Given the description of an element on the screen output the (x, y) to click on. 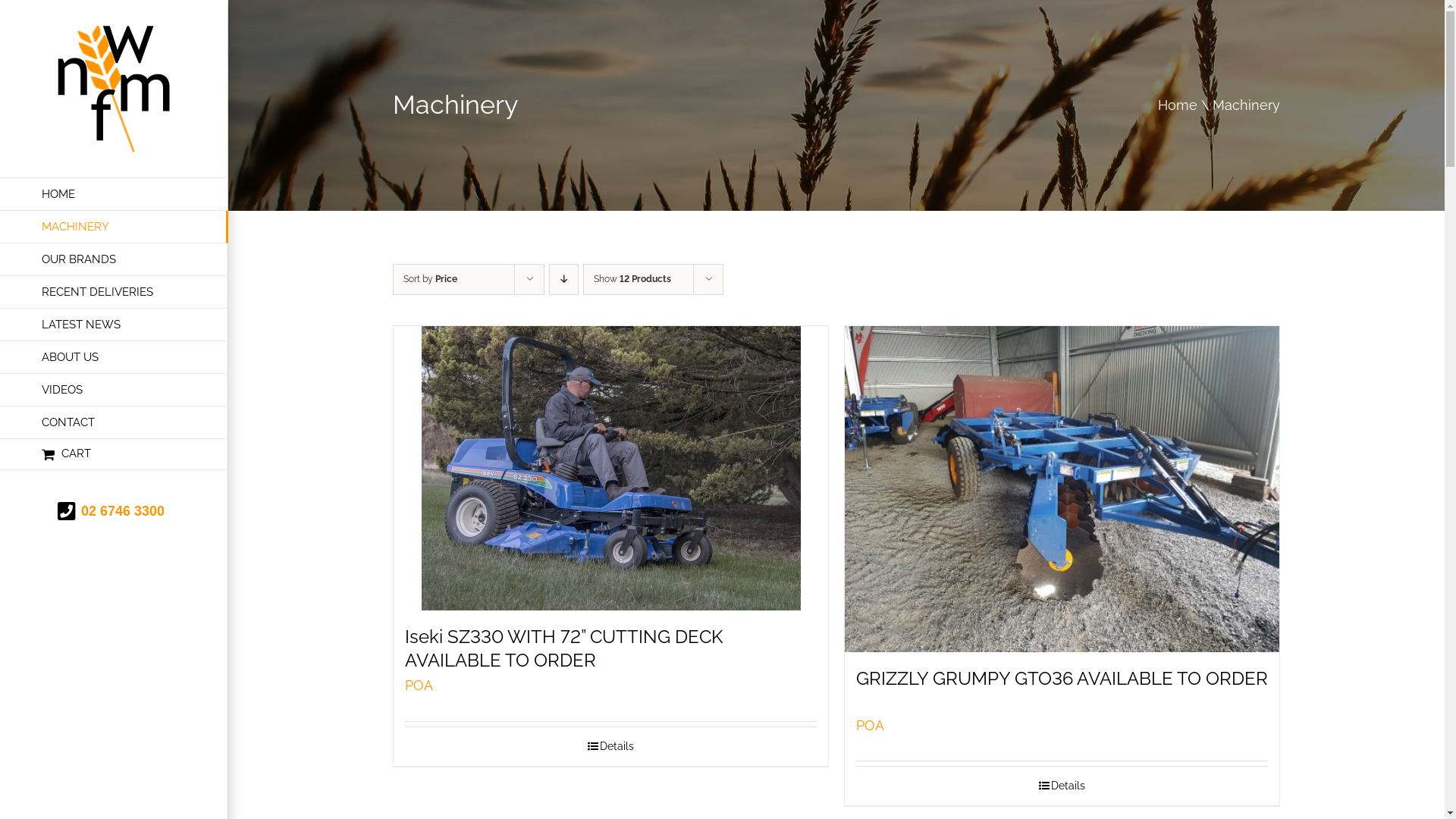
LATEST NEWS Element type: text (114, 324)
CONTACT Element type: text (114, 422)
Show 12 Products Element type: text (632, 278)
MACHINERY Element type: text (114, 226)
Home Element type: text (1177, 104)
Sort by Price Element type: text (430, 278)
Details Element type: text (610, 746)
RECENT DELIVERIES Element type: text (114, 292)
Details Element type: text (1061, 785)
OUR BRANDS Element type: text (114, 259)
VIDEOS Element type: text (114, 389)
ABOUT US Element type: text (114, 357)
GRIZZLY GRUMPY GTO36 AVAILABLE TO ORDER Element type: text (1061, 678)
HOME Element type: text (114, 193)
